Given the description of an element on the screen output the (x, y) to click on. 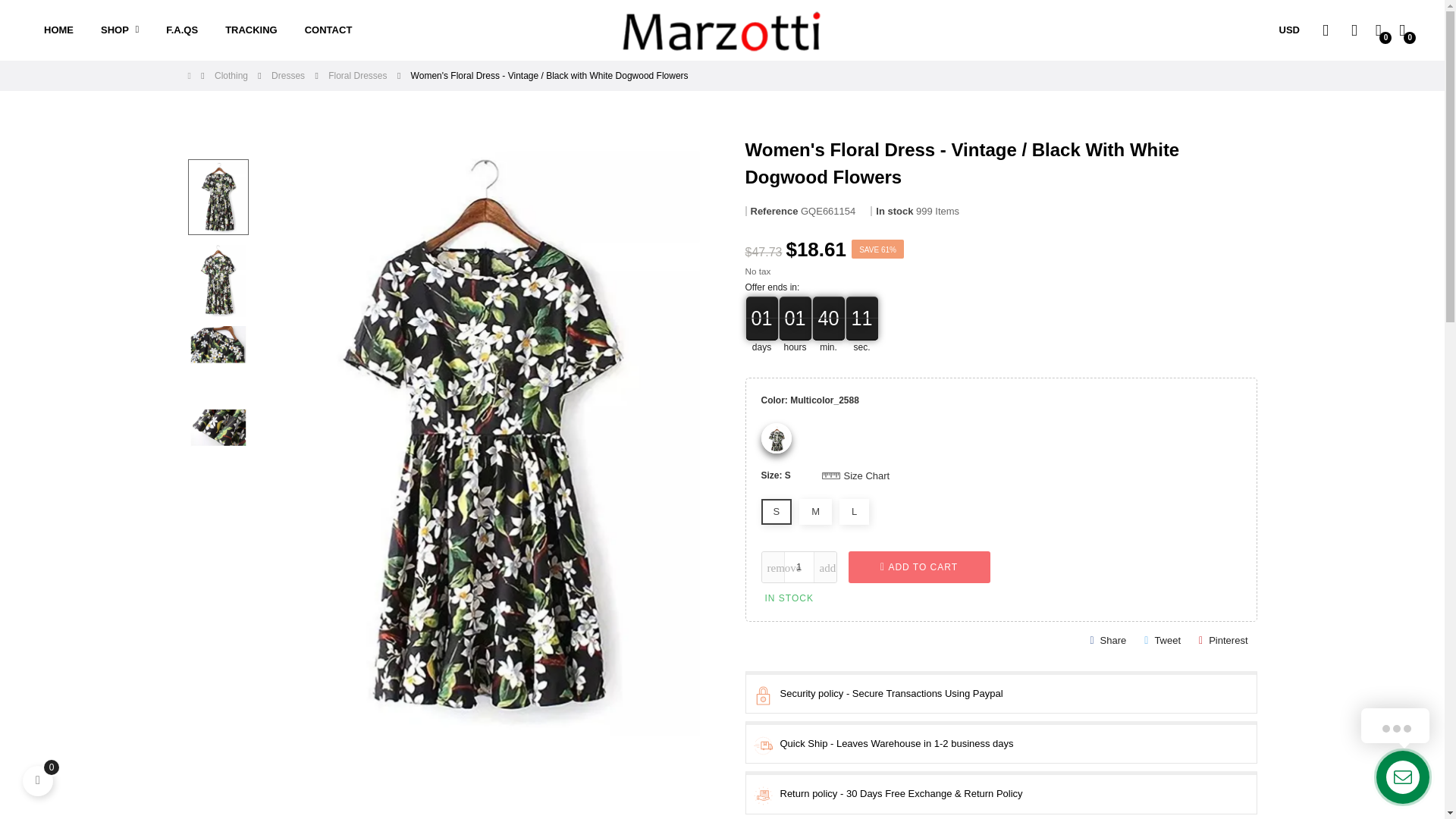
HOME (58, 30)
1 (798, 567)
SHOP (119, 30)
